Given the description of an element on the screen output the (x, y) to click on. 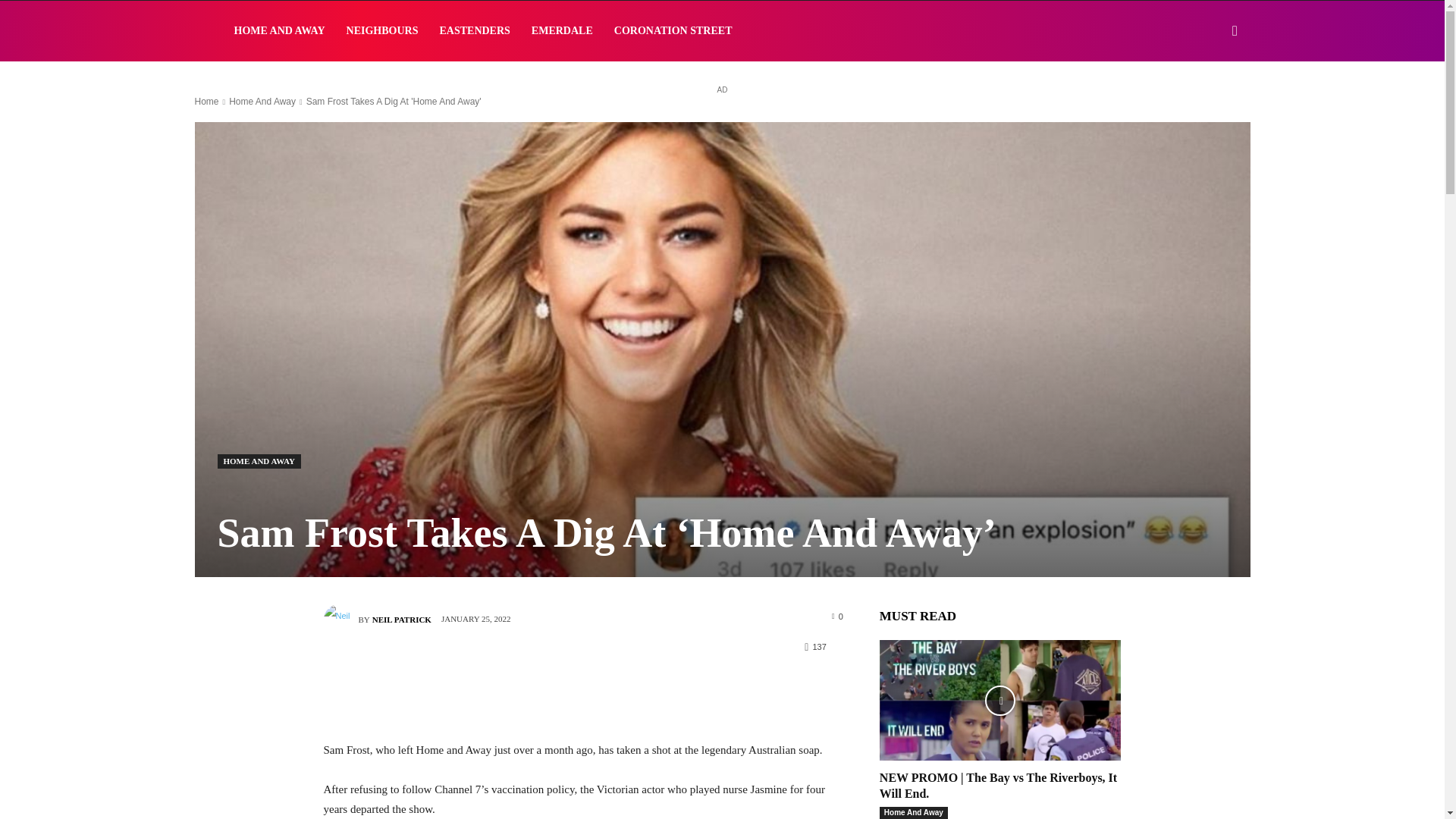
Neil Patrick (340, 619)
Search (1210, 103)
EASTENDERS (473, 30)
HOME AND AWAY (278, 30)
Home (205, 101)
0 (837, 614)
Home And Away (261, 101)
View all posts in Home And Away (261, 101)
HOME AND AWAY (257, 461)
NEIL PATRICK (401, 619)
EMERDALE (562, 30)
NEIGHBOURS (382, 30)
CORONATION STREET (673, 30)
